Given the description of an element on the screen output the (x, y) to click on. 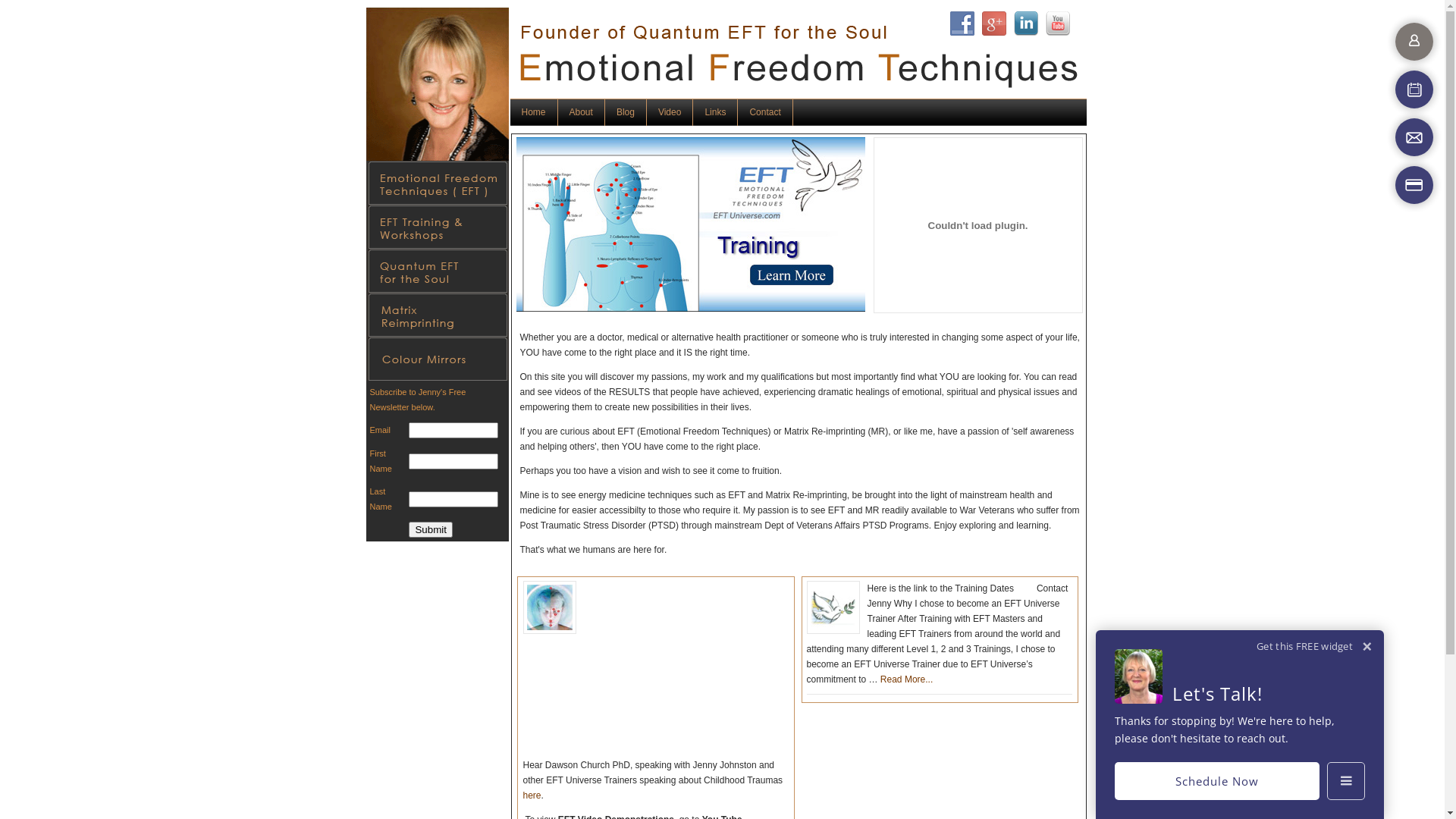
here Element type: text (532, 795)
Links Element type: text (715, 112)
 Google+ Element type: hover (993, 23)
Get this FREE widget Element type: text (1304, 645)
emotionalfreedomtechniques.com.au Element type: text (645, 45)
 Facebook Element type: hover (961, 23)
Contact Element type: text (764, 112)
Read More... Element type: text (906, 679)
 LinkedIn Element type: hover (1025, 23)
 YouTube Element type: hover (1056, 23)
About Element type: text (581, 112)
Emotional Freedom Techniques Training Element type: hover (832, 608)
Home Element type: text (533, 112)
Submit Element type: text (429, 529)
Video Element type: text (669, 112)
Emotional Freedom Techniques Element type: hover (549, 608)
Blog Element type: text (625, 112)
Schedule Now Element type: text (1216, 781)
